Given the description of an element on the screen output the (x, y) to click on. 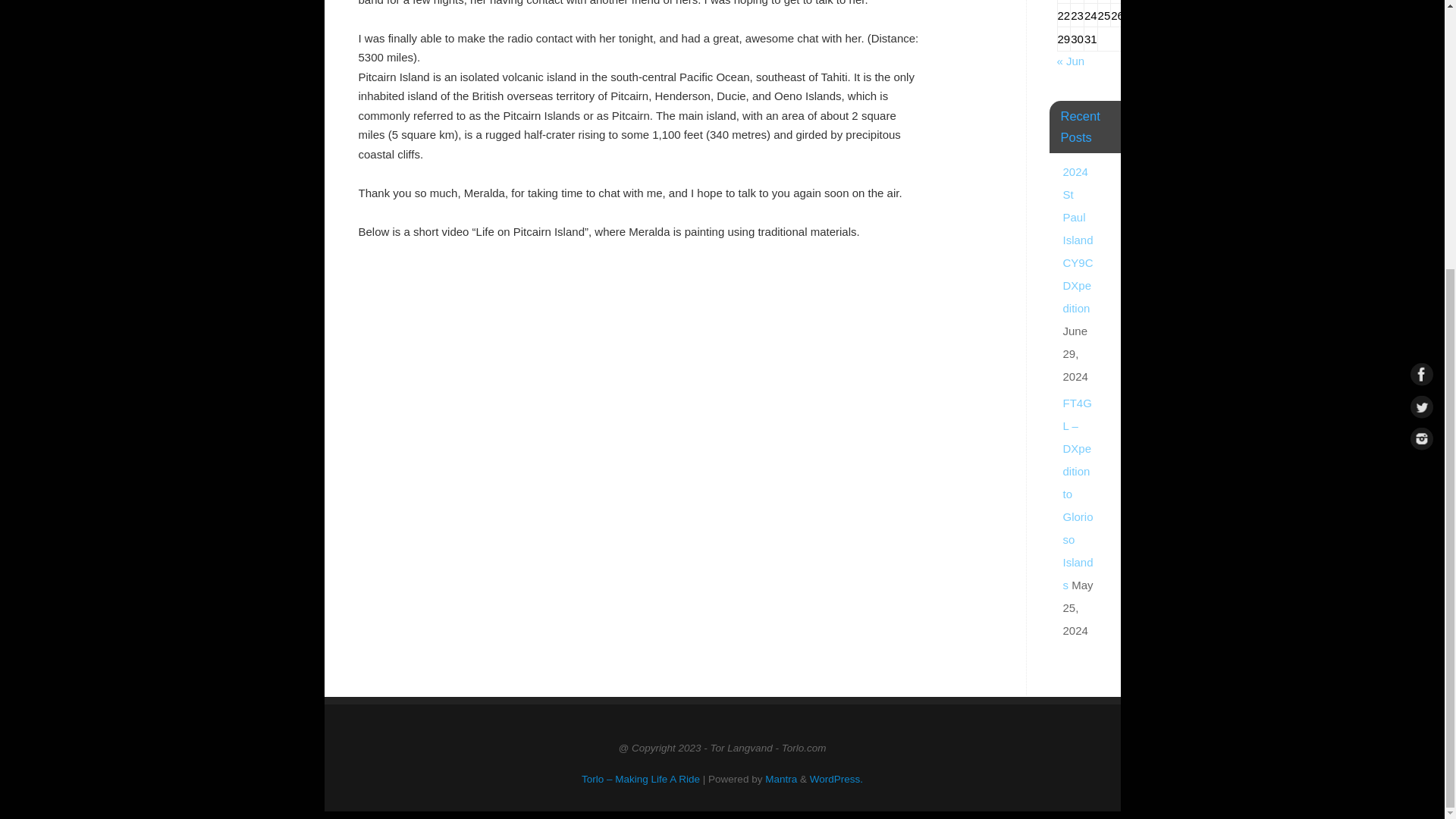
Mantra (780, 778)
WordPress. (836, 778)
